Given the description of an element on the screen output the (x, y) to click on. 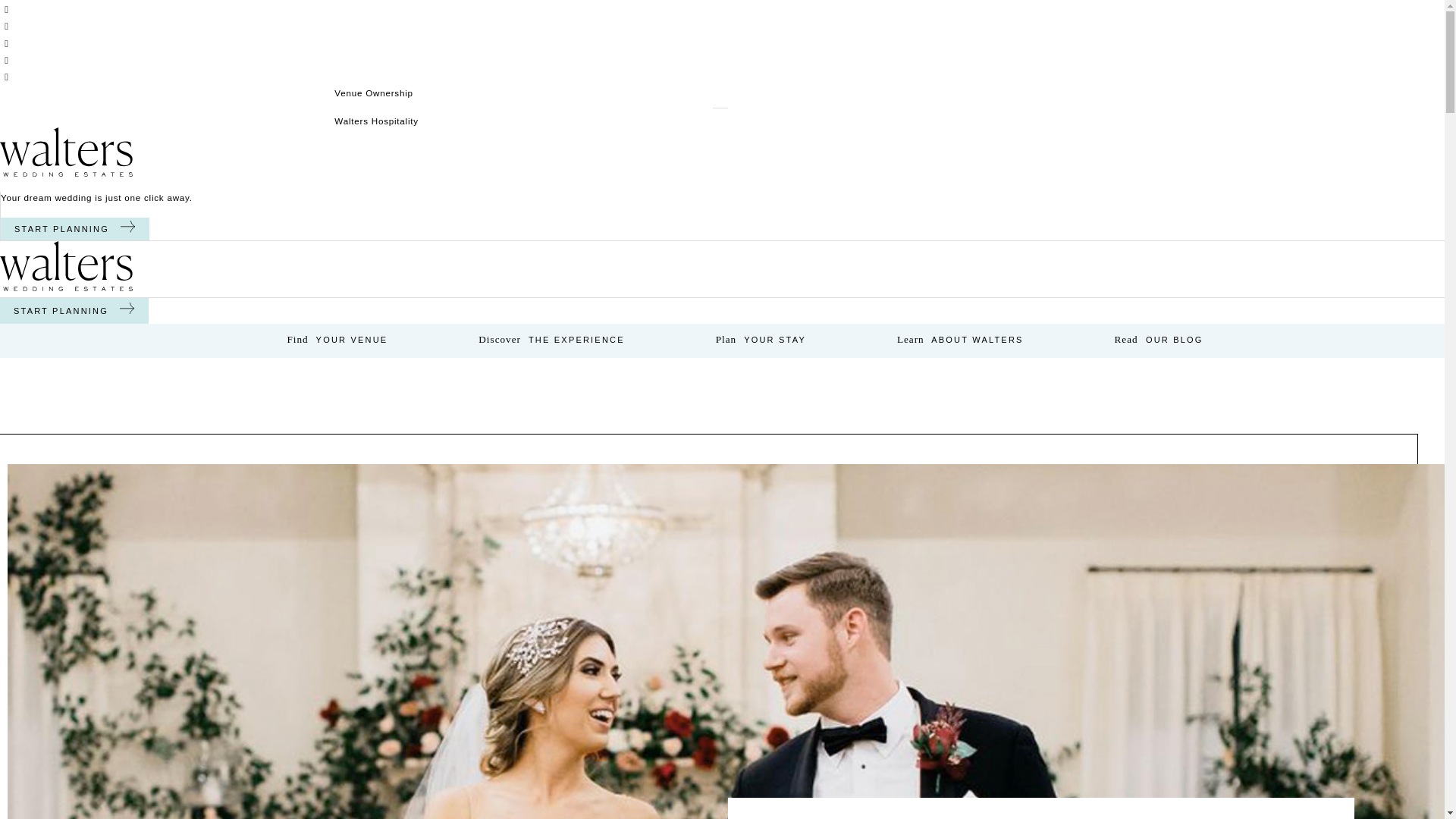
Find YOUR VENUE (336, 339)
Walters Hospitality (719, 121)
Venue Ownership (719, 92)
